Given the description of an element on the screen output the (x, y) to click on. 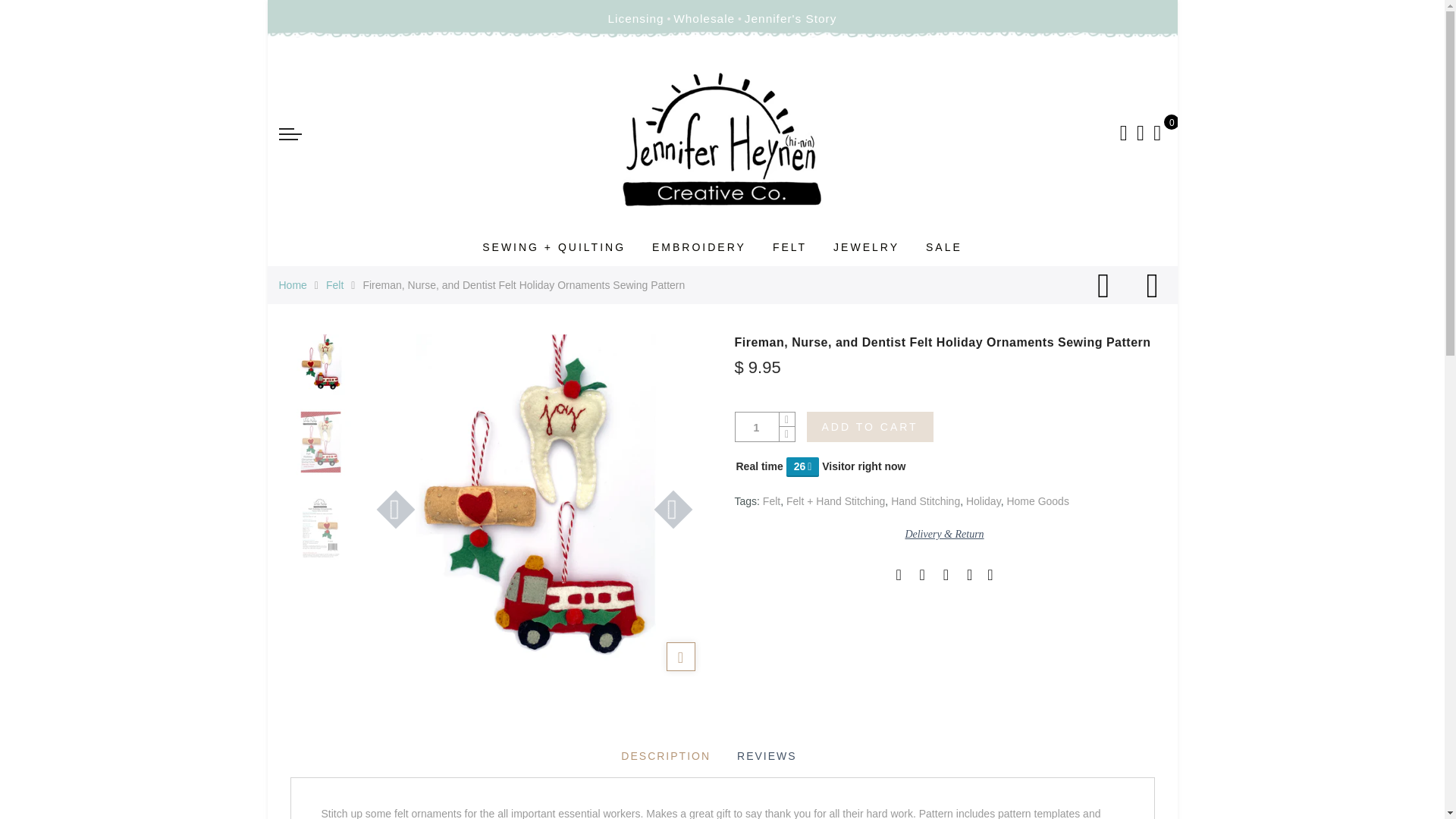
JEWELRY (865, 246)
Jennifer's Story (790, 19)
1 (756, 427)
EMBROIDERY (698, 246)
SALE (944, 246)
Licensing (635, 19)
Wholesale (703, 19)
FELT (789, 246)
Qty (756, 427)
